Given the description of an element on the screen output the (x, y) to click on. 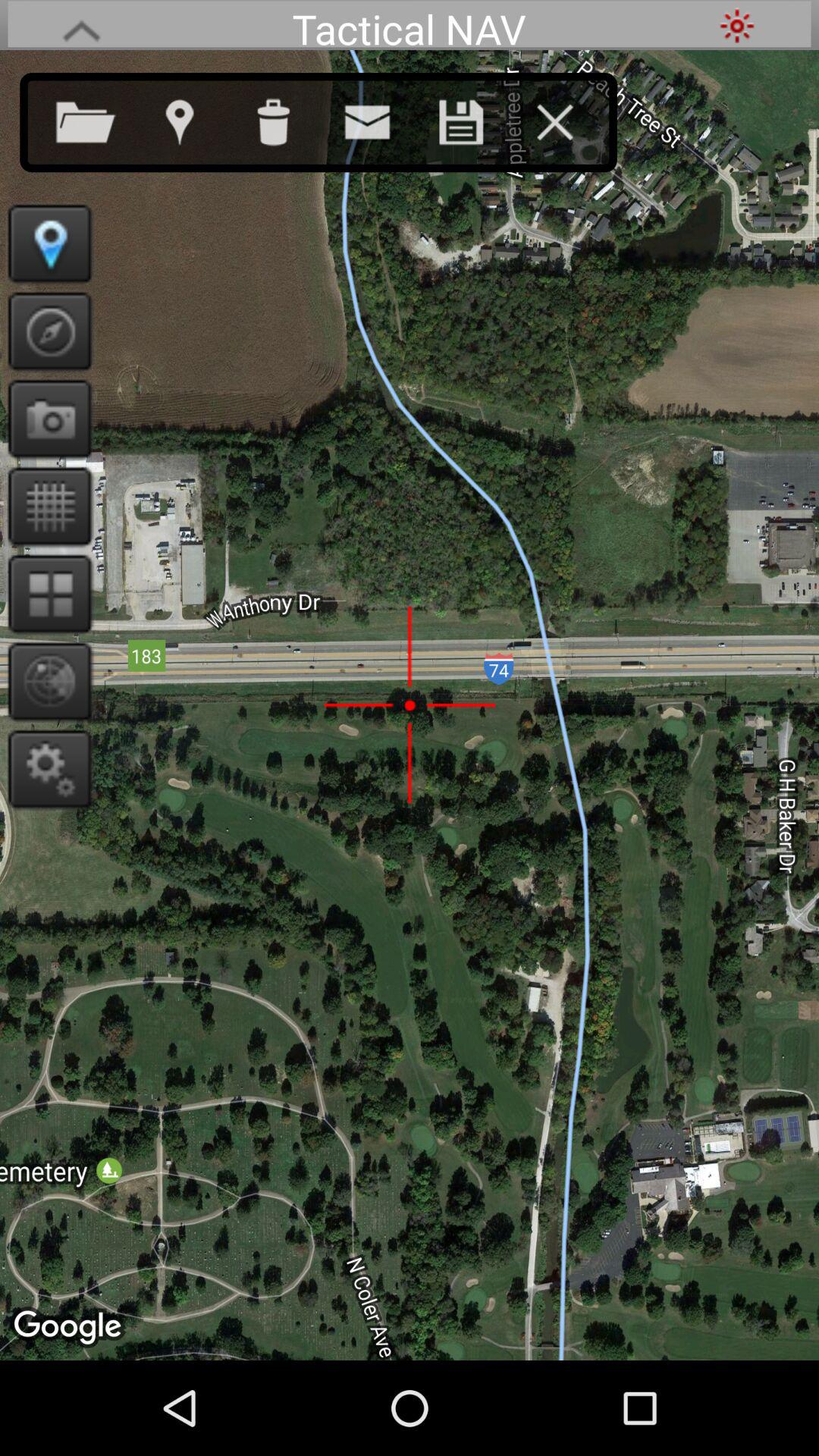
select location (194, 119)
